Given the description of an element on the screen output the (x, y) to click on. 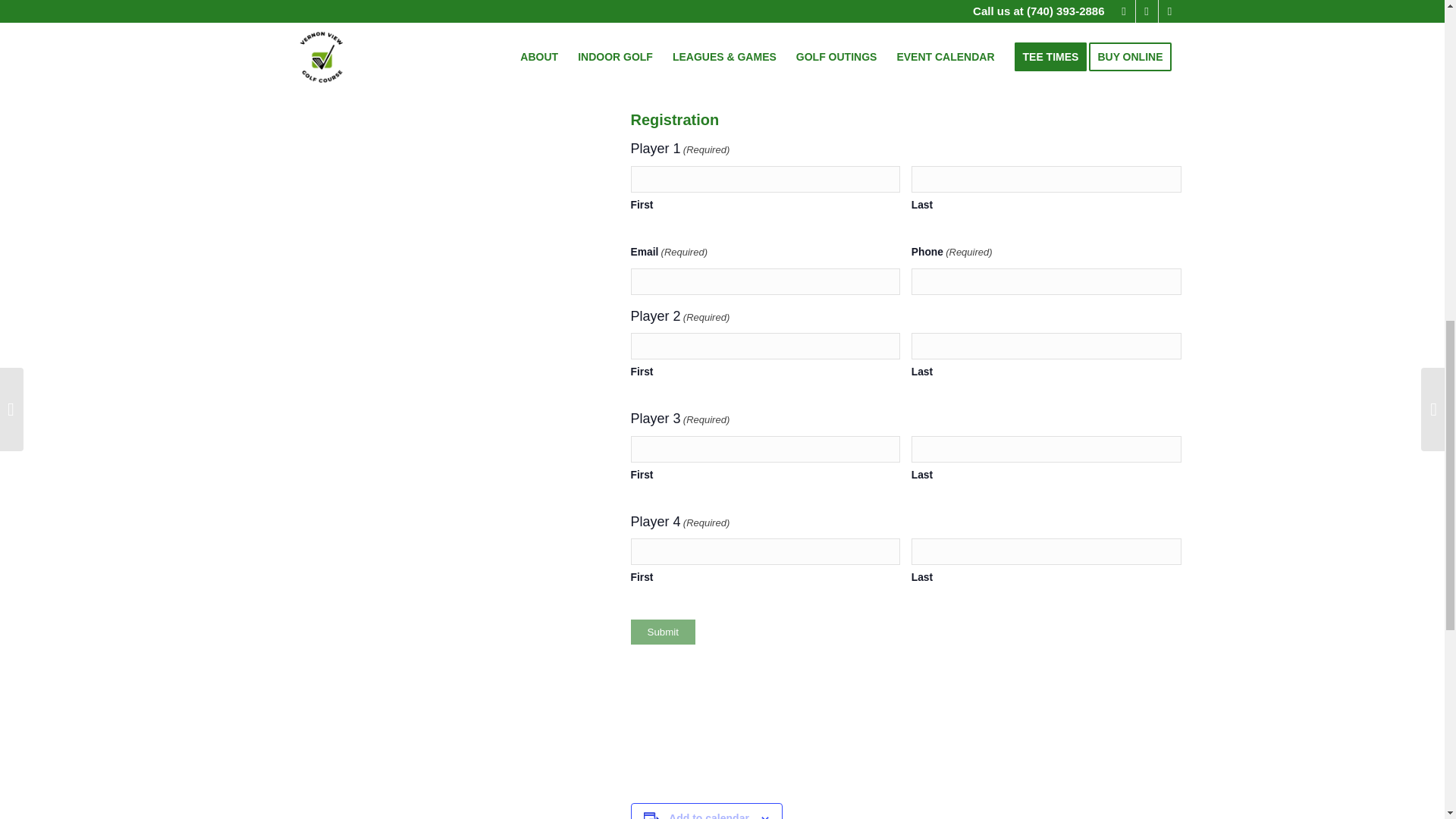
Add to calendar (708, 815)
Submit (662, 631)
Submit (662, 631)
